Given the description of an element on the screen output the (x, y) to click on. 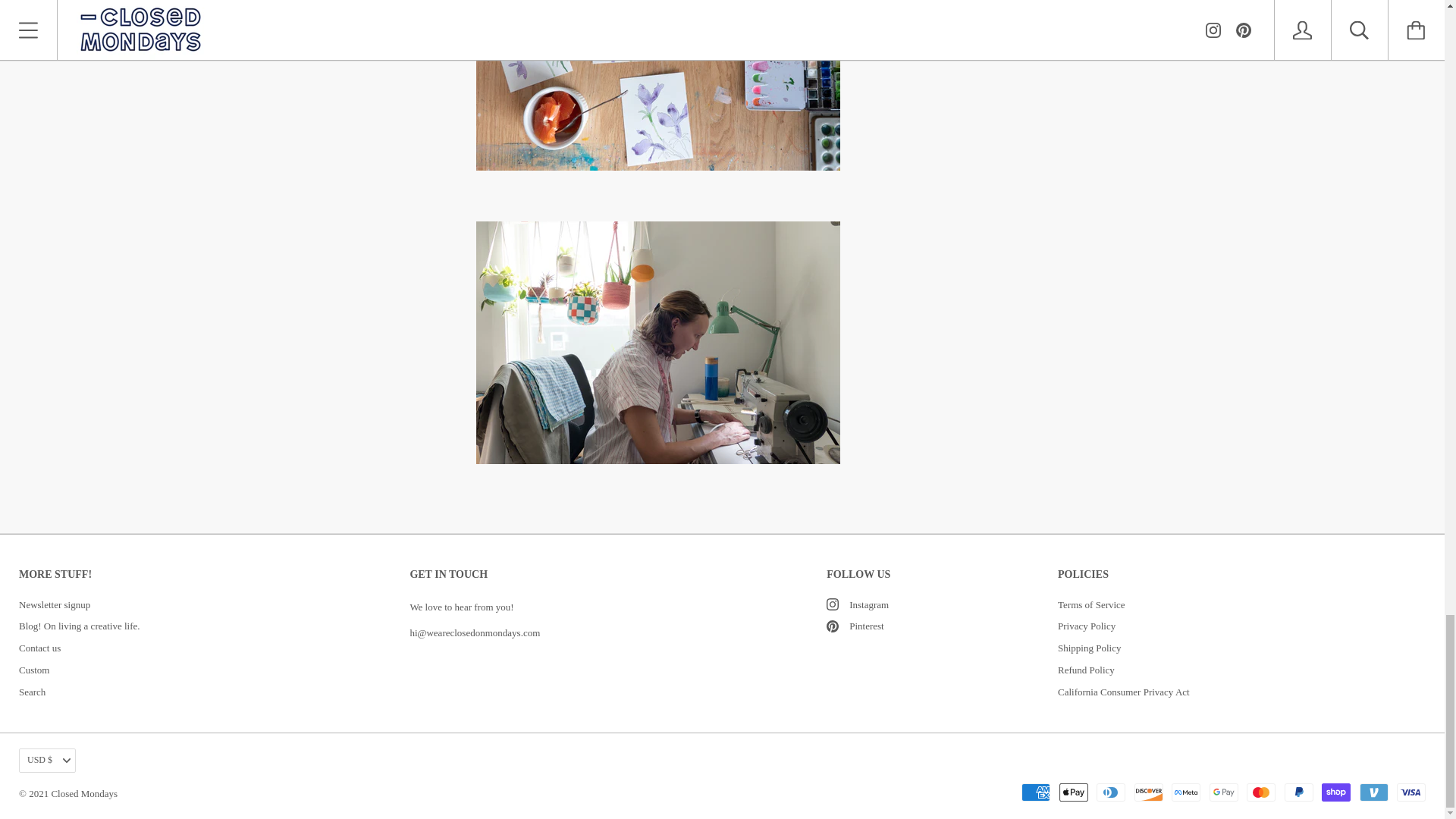
American Express (1035, 791)
Pinterest (832, 625)
Discover (1148, 791)
Meta Pay (1185, 791)
Apple Pay (1072, 791)
Diners Club (1110, 791)
Newsletter signup (54, 604)
Instagram (832, 604)
